Given the description of an element on the screen output the (x, y) to click on. 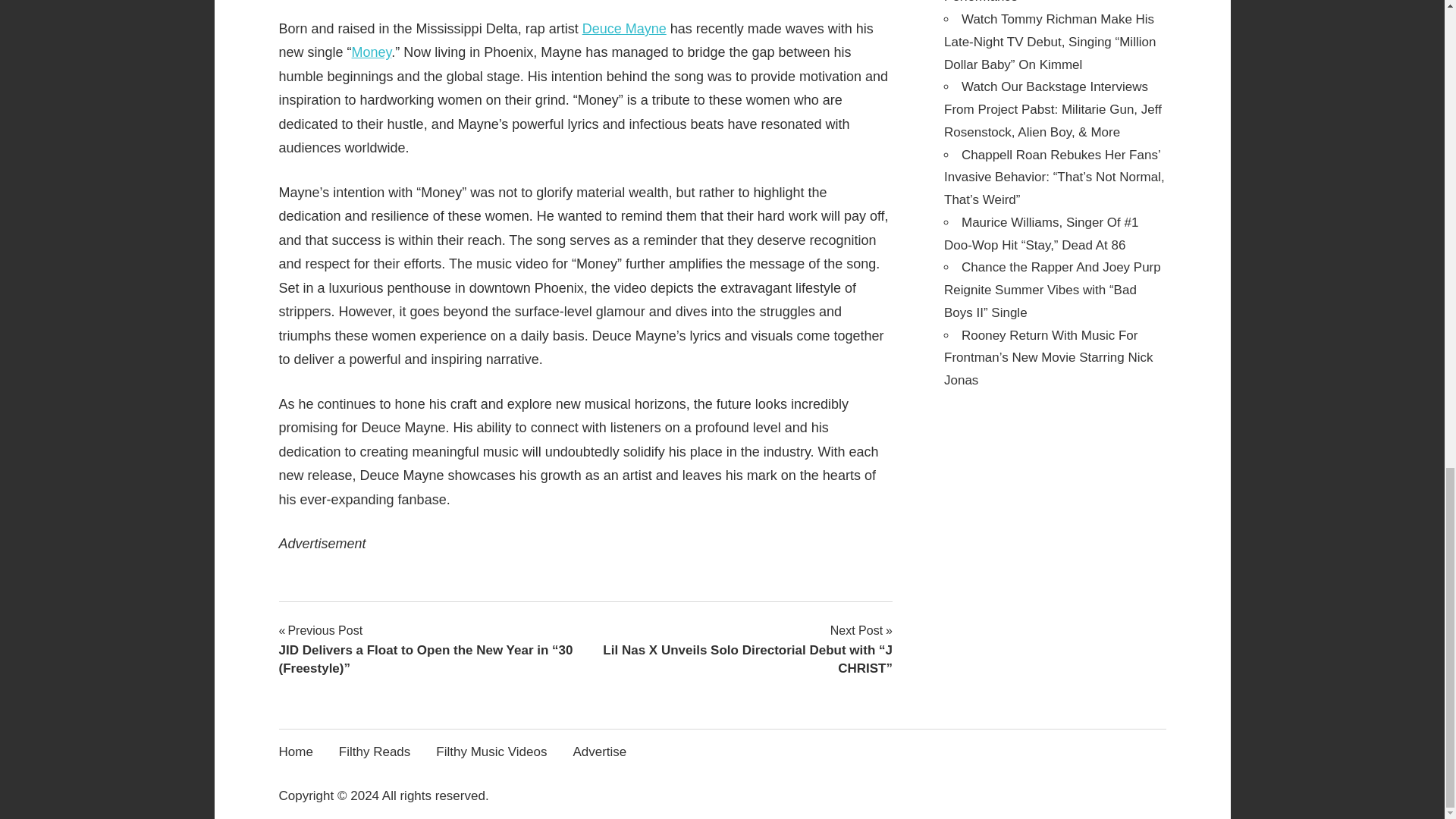
Filthy Reads (379, 750)
Advertise (604, 750)
Home (301, 750)
Deuce Mayne (624, 28)
Filthy Music Videos (496, 750)
Money (371, 52)
